Given the description of an element on the screen output the (x, y) to click on. 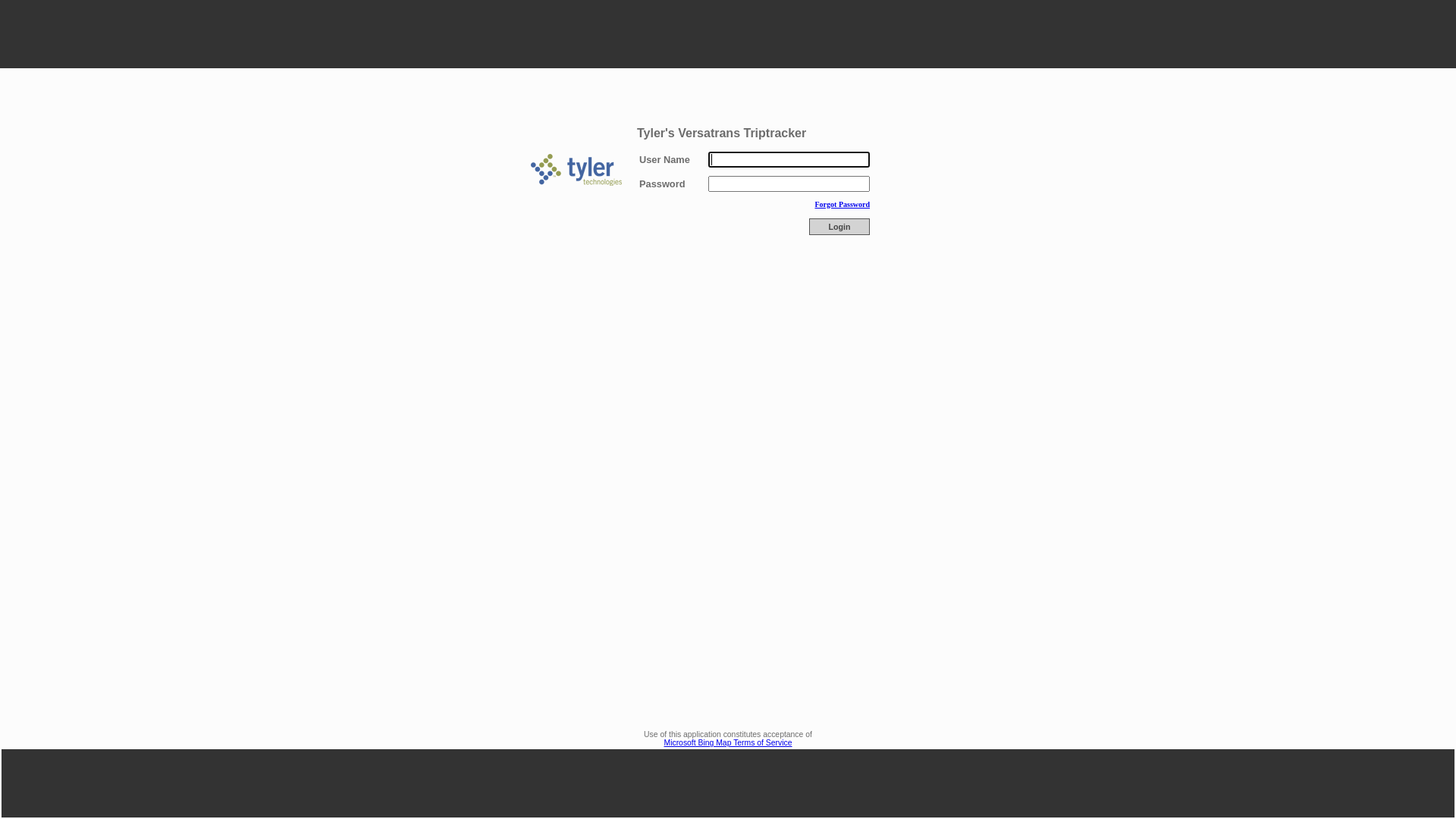
Login Element type: text (839, 226)
Microsoft Bing Map Terms of Service Element type: text (728, 742)
Forgot Password Element type: text (841, 204)
